Given the description of an element on the screen output the (x, y) to click on. 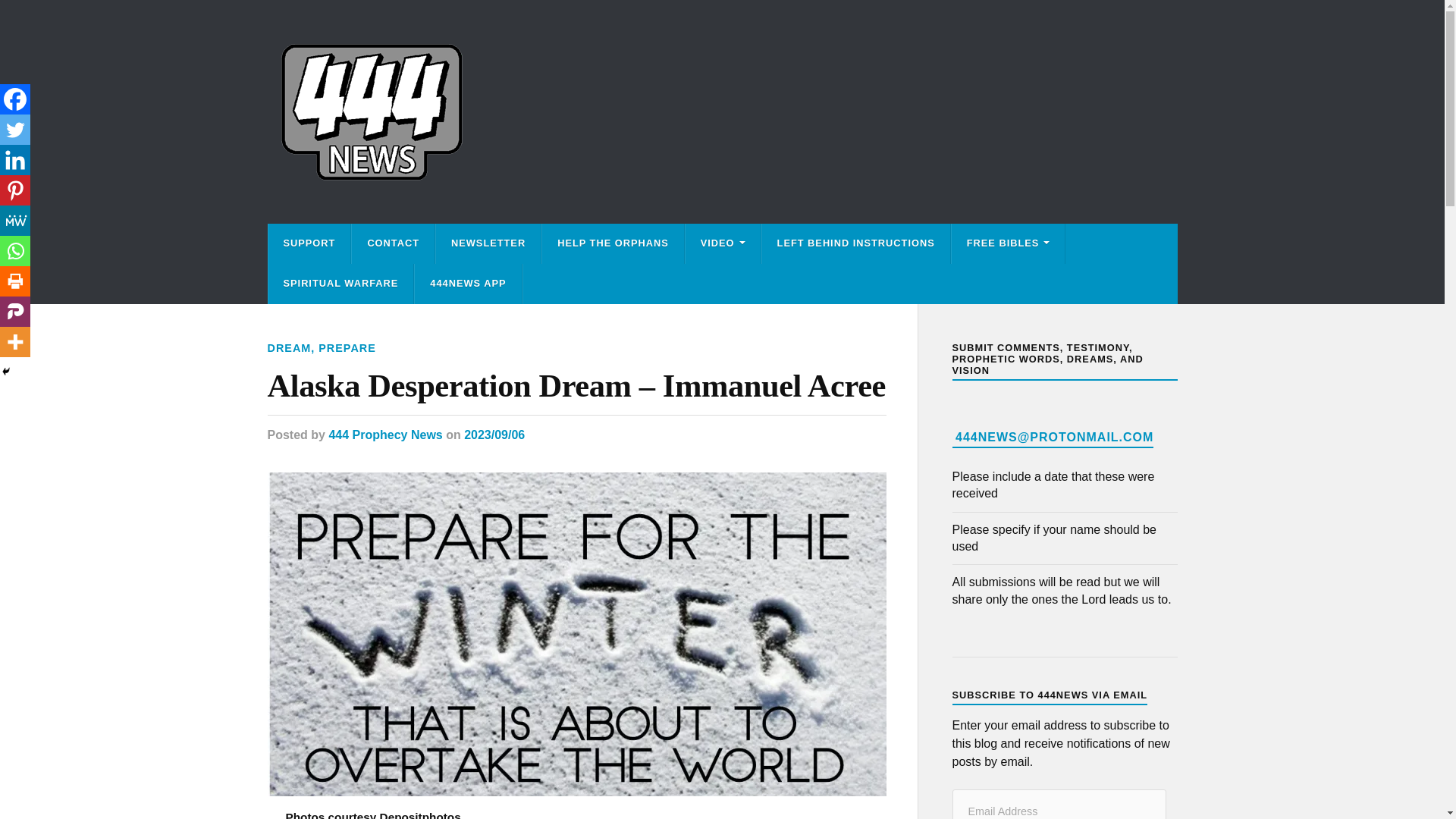
PREPARE (346, 347)
CONTACT (392, 243)
NEWSLETTER (487, 243)
VIDEO (722, 243)
HELP THE ORPHANS (612, 243)
444 Prophecy News (385, 434)
444NEWS APP (467, 283)
DREAM (288, 347)
LEFT BEHIND INSTRUCTIONS (855, 243)
SUPPORT (308, 243)
FREE BIBLES (1008, 243)
SPIRITUAL WARFARE (340, 283)
